Given the description of an element on the screen output the (x, y) to click on. 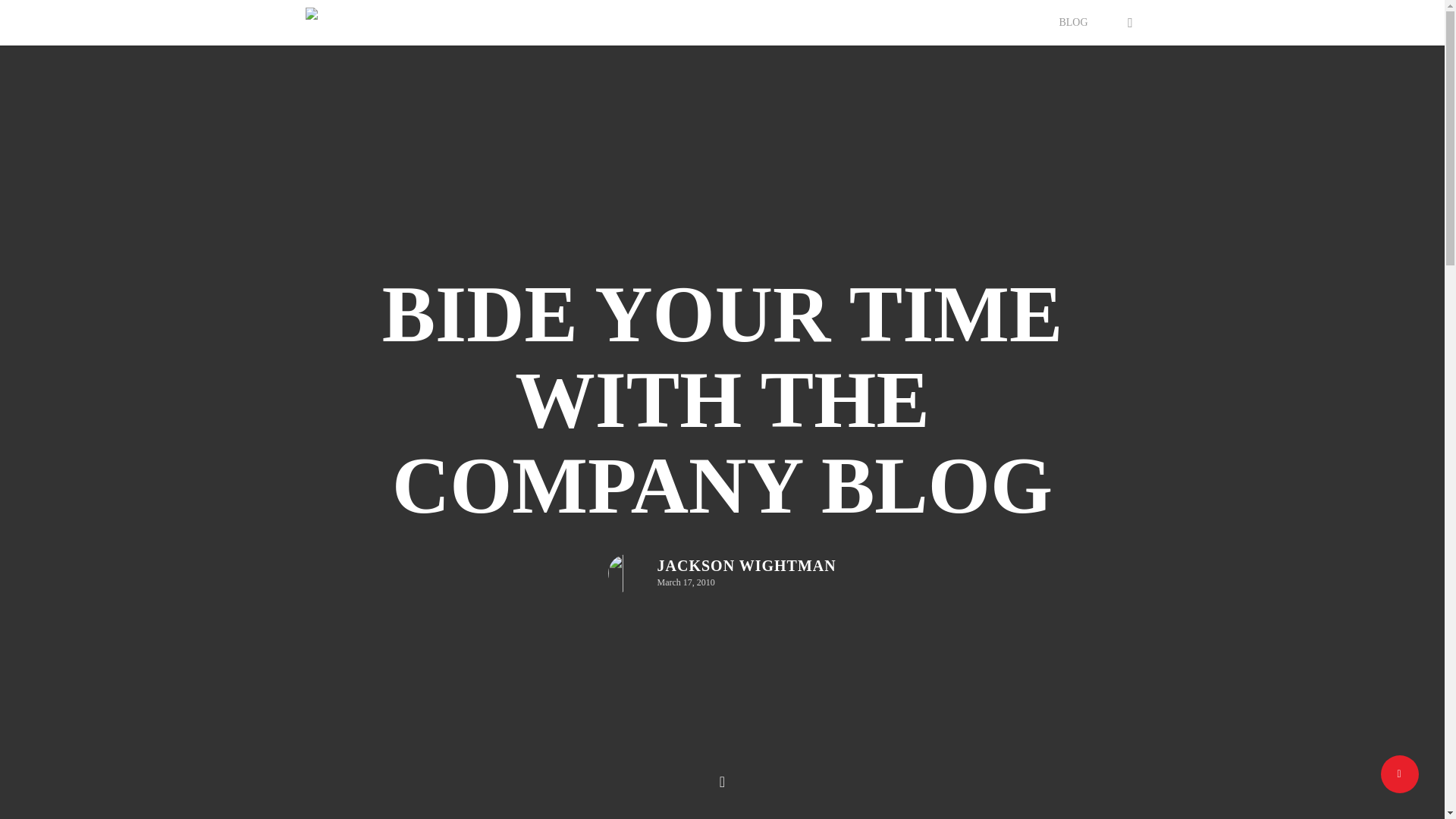
Posts by Jackson Wightman (746, 565)
JACKSON WIGHTMAN (746, 565)
BLOG (1072, 22)
search (1129, 22)
